Given the description of an element on the screen output the (x, y) to click on. 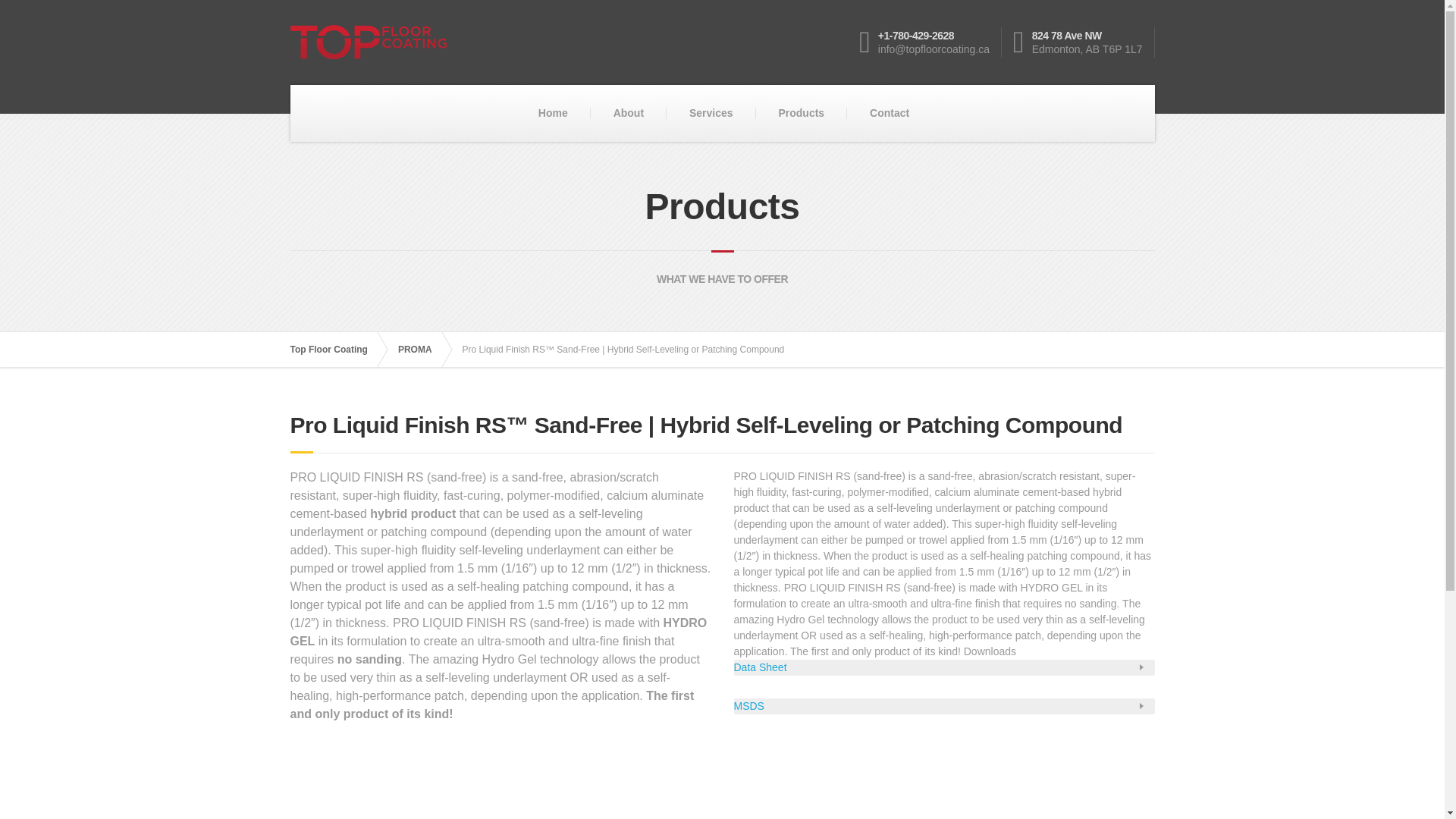
Go to Top Floor Coating. (335, 349)
About (628, 113)
Go to the PROMA Portfolio Category archives. (421, 349)
Services (1083, 42)
Products (710, 113)
PROMA (801, 113)
Top Floor Coating (421, 349)
Home (335, 349)
Contact (553, 113)
